Given the description of an element on the screen output the (x, y) to click on. 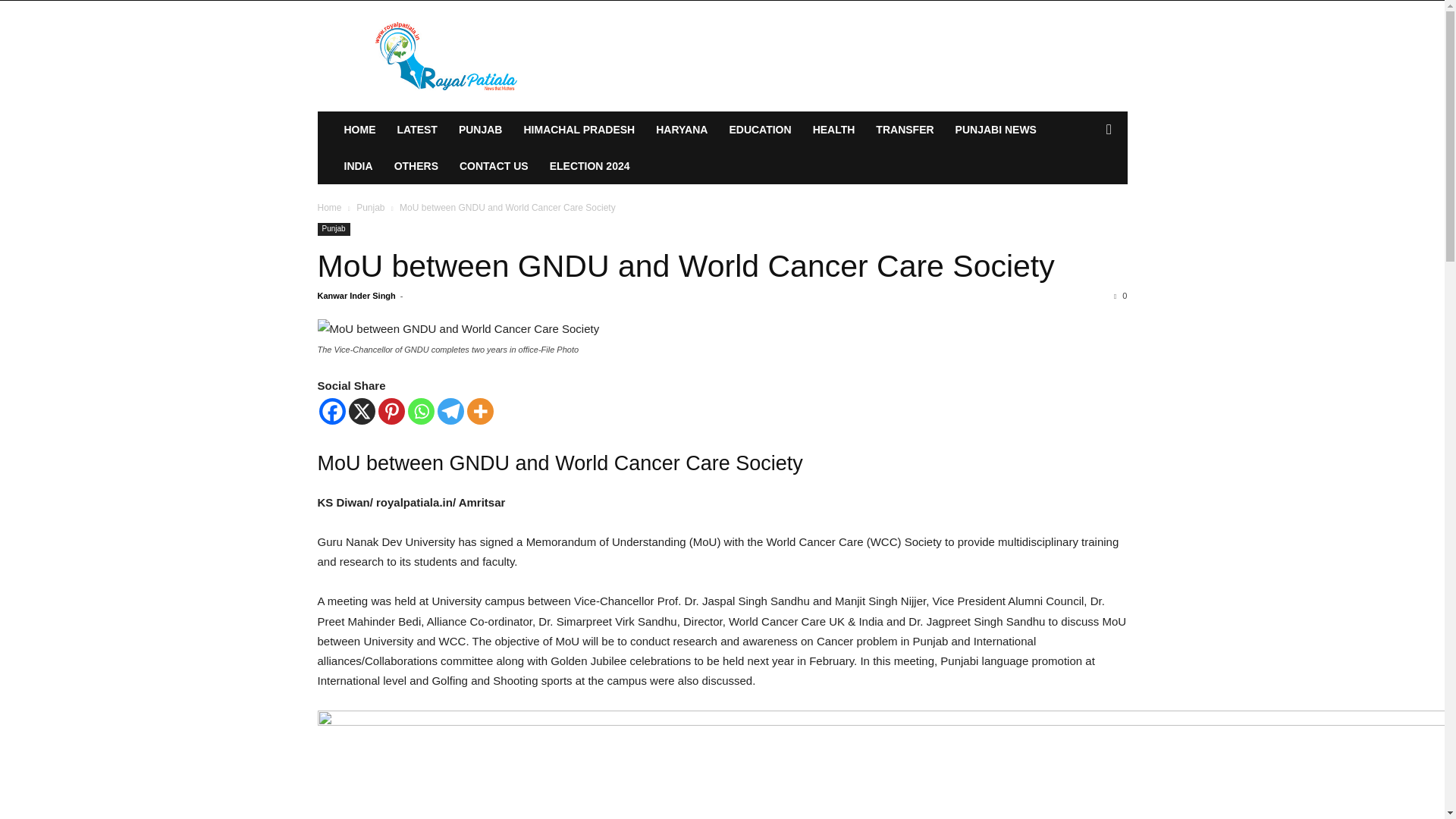
CONTACT US (493, 166)
EDUCATION (759, 129)
Home (328, 207)
Facebook (331, 411)
LATEST (417, 129)
HARYANA (681, 129)
HOME (360, 129)
X (362, 411)
Royal Patiala (446, 56)
OTHERS (416, 166)
